Given the description of an element on the screen output the (x, y) to click on. 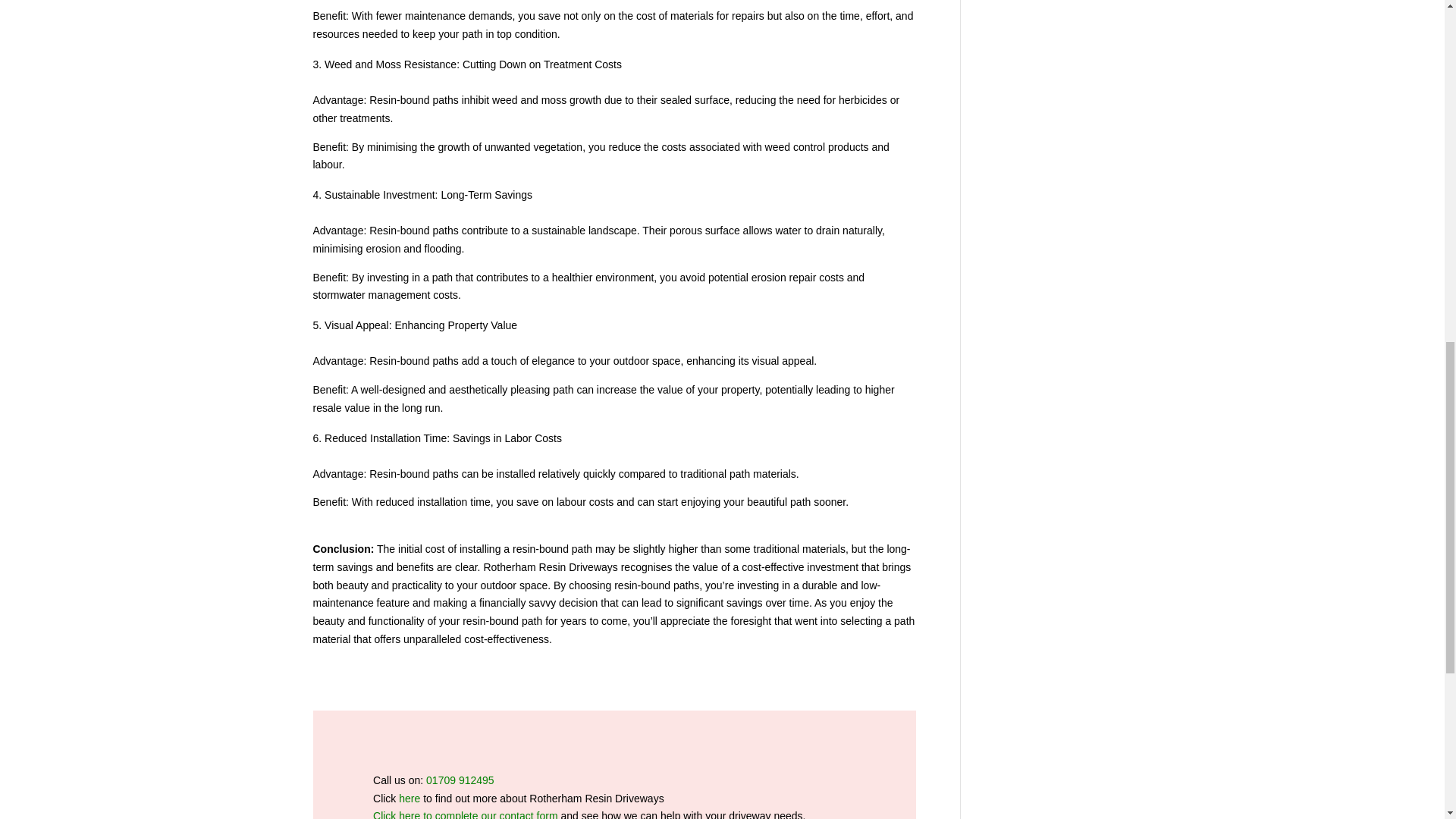
01709 912495 (460, 779)
here (409, 798)
Click here to complete our contact form (464, 814)
